Given the description of an element on the screen output the (x, y) to click on. 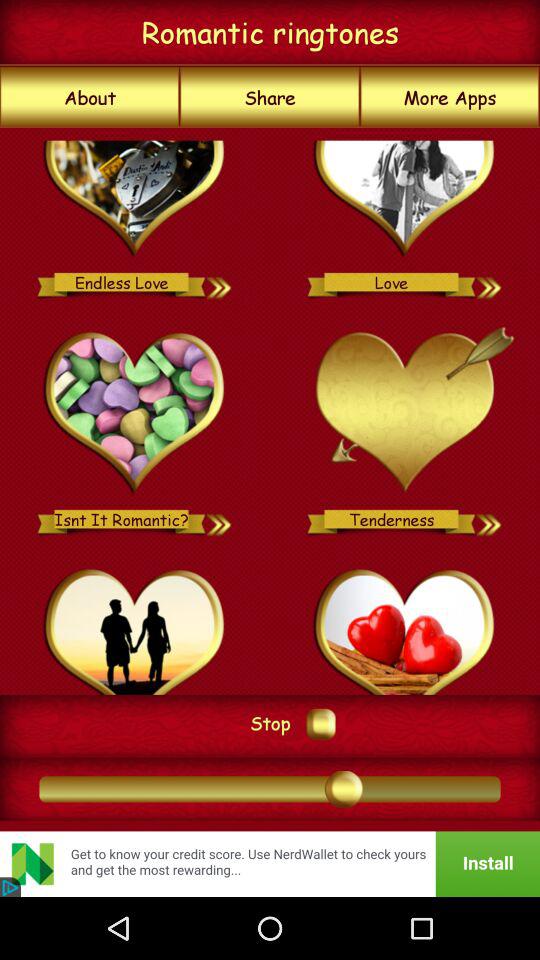
choose the button at the top left corner (90, 97)
